Given the description of an element on the screen output the (x, y) to click on. 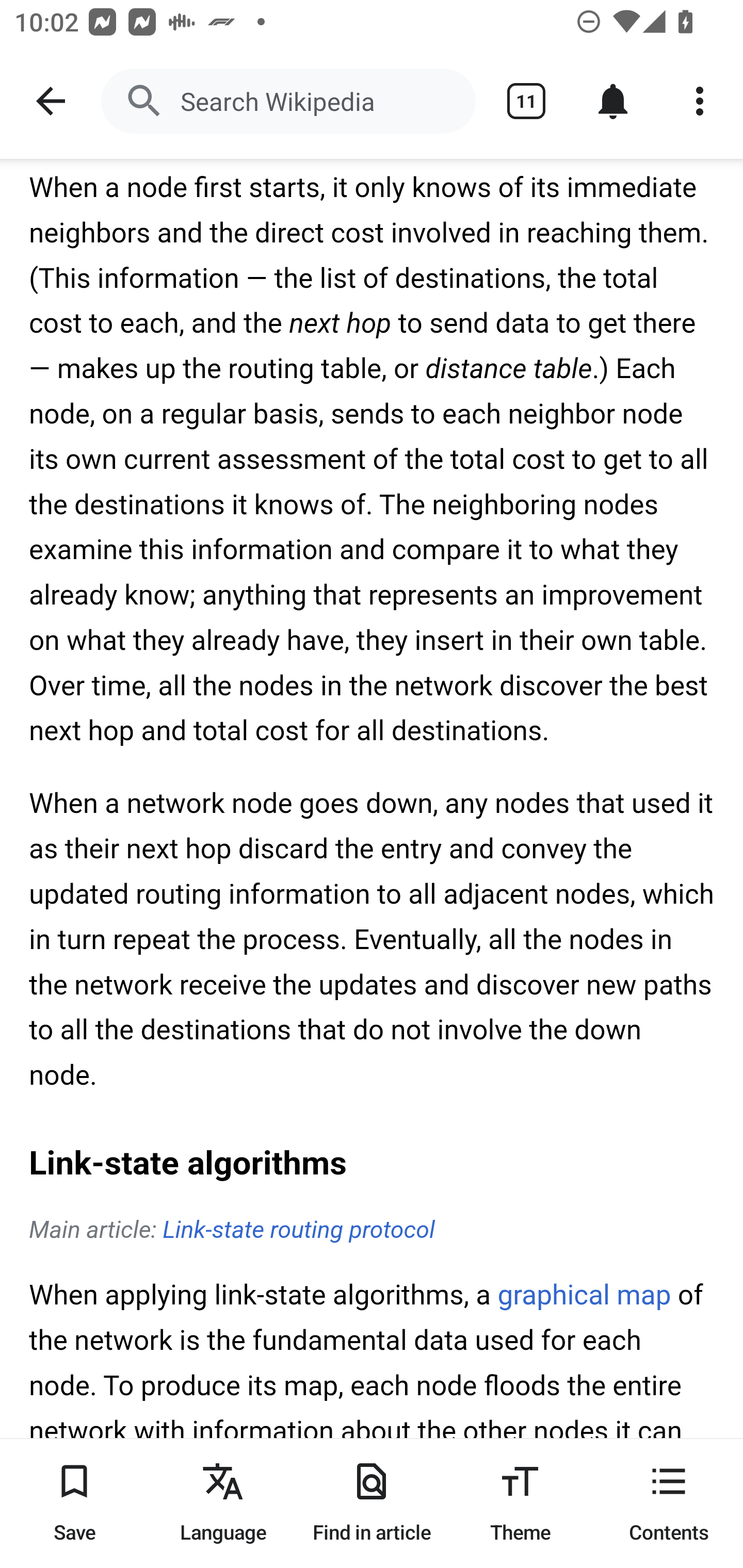
Show tabs 11 (525, 100)
Notifications (612, 100)
Navigate up (50, 101)
More options (699, 101)
Search Wikipedia (288, 100)
Link-state routing protocol (298, 1230)
graphical map (583, 1296)
Save (74, 1502)
Language (222, 1502)
Find in article (371, 1502)
Theme (519, 1502)
Contents (668, 1502)
